Given the description of an element on the screen output the (x, y) to click on. 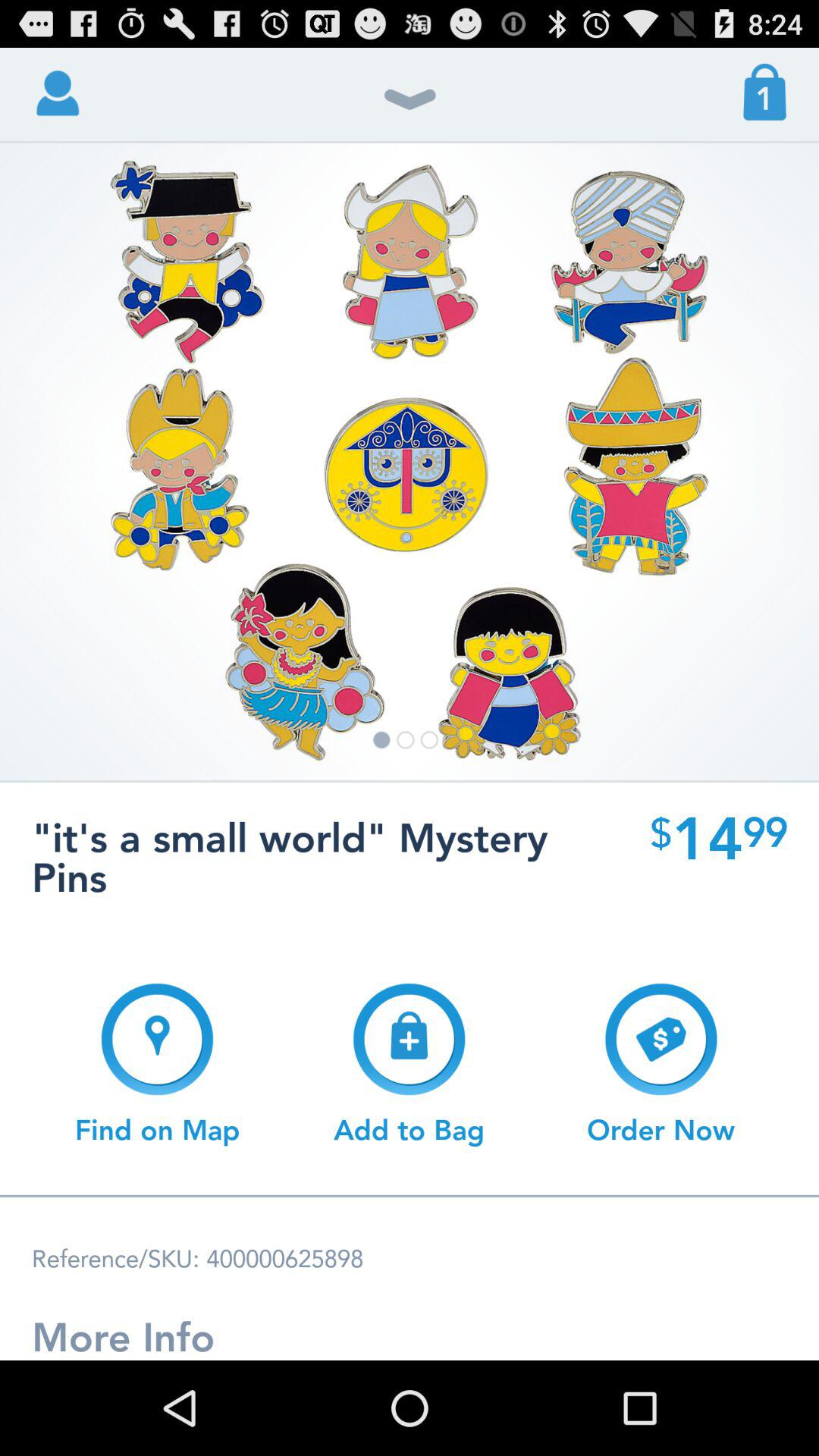
open the item to the left of the order now item (408, 1064)
